Given the description of an element on the screen output the (x, y) to click on. 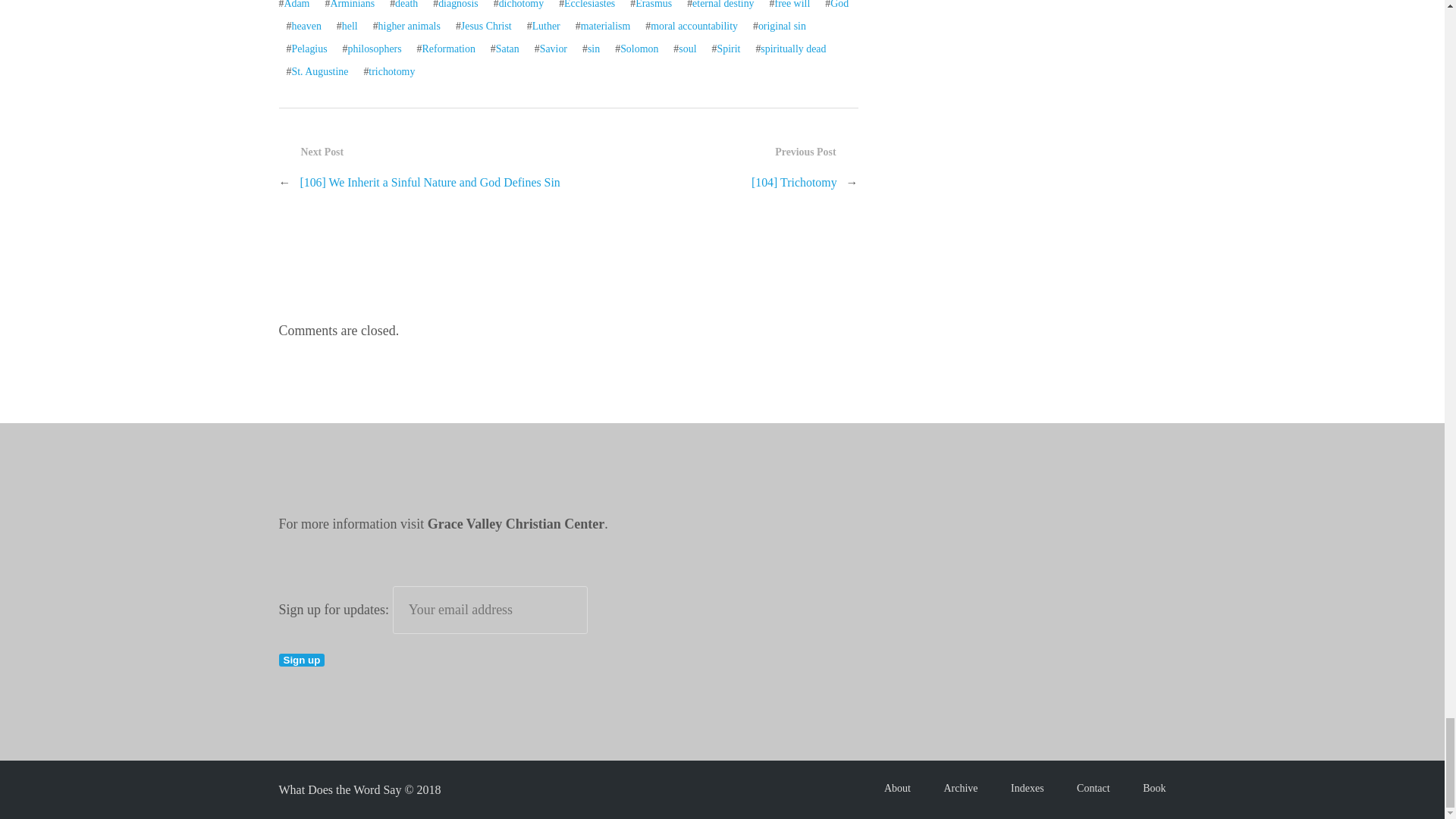
dichotomy (521, 4)
diagnosis (458, 4)
death (405, 4)
Sign up (301, 659)
Arminians (352, 4)
Adam (295, 4)
